Given the description of an element on the screen output the (x, y) to click on. 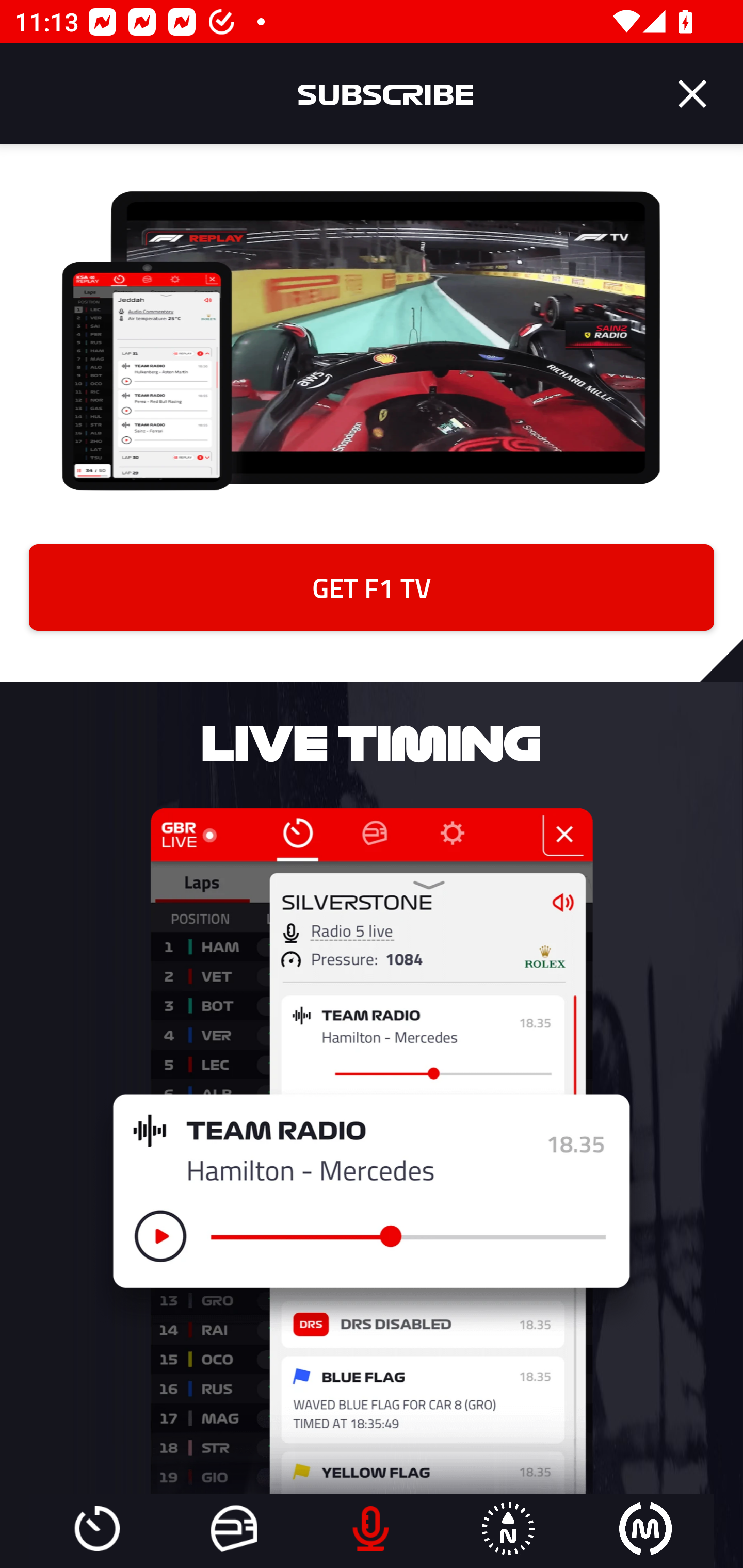
Close (692, 93)
GET F1 TV (371, 587)
